Given the description of an element on the screen output the (x, y) to click on. 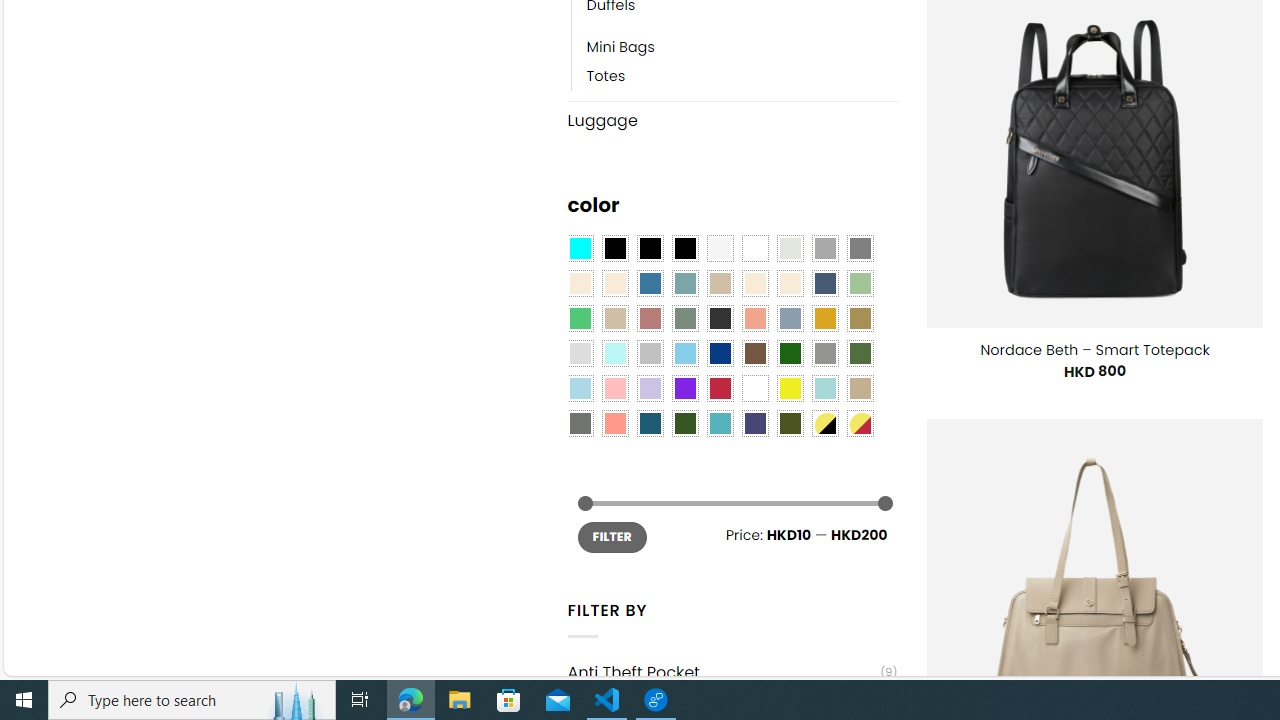
Black-Brown (684, 249)
Light Gray (579, 354)
Sage (684, 318)
Purple (684, 388)
Coral (755, 318)
Aqua Blue (579, 249)
Ash Gray (789, 249)
Luggage (732, 119)
All Black (614, 249)
Brown (755, 354)
Blue Sage (684, 283)
Green (859, 354)
Dull Nickle (579, 424)
Rose (650, 318)
Sky Blue (684, 354)
